Given the description of an element on the screen output the (x, y) to click on. 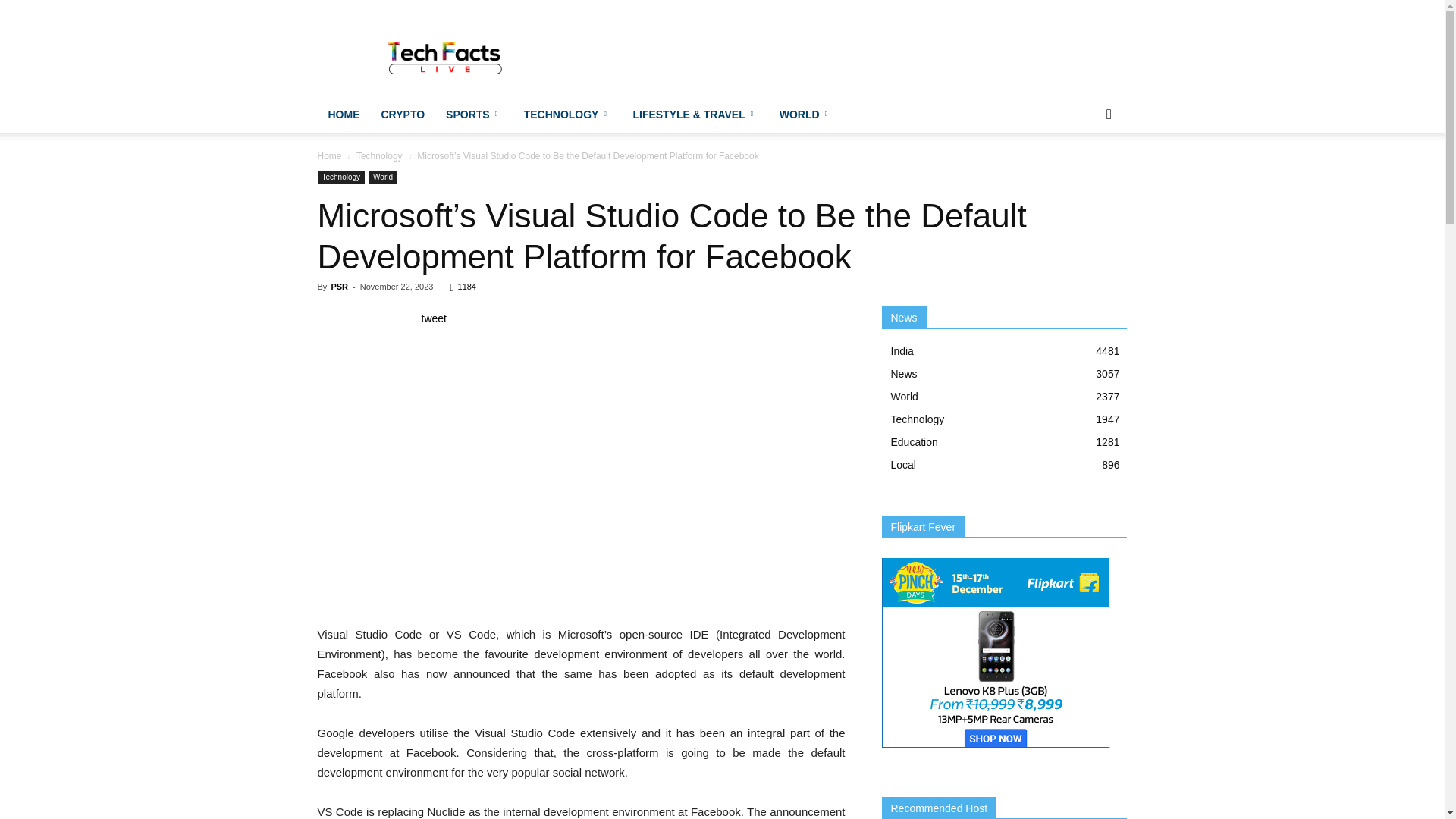
SPORTS (474, 114)
TECHNOLOGY (568, 114)
CRYPTO (402, 114)
HOME (343, 114)
WORLD (805, 114)
TF Live (446, 55)
View all posts in Technology (379, 155)
